Given the description of an element on the screen output the (x, y) to click on. 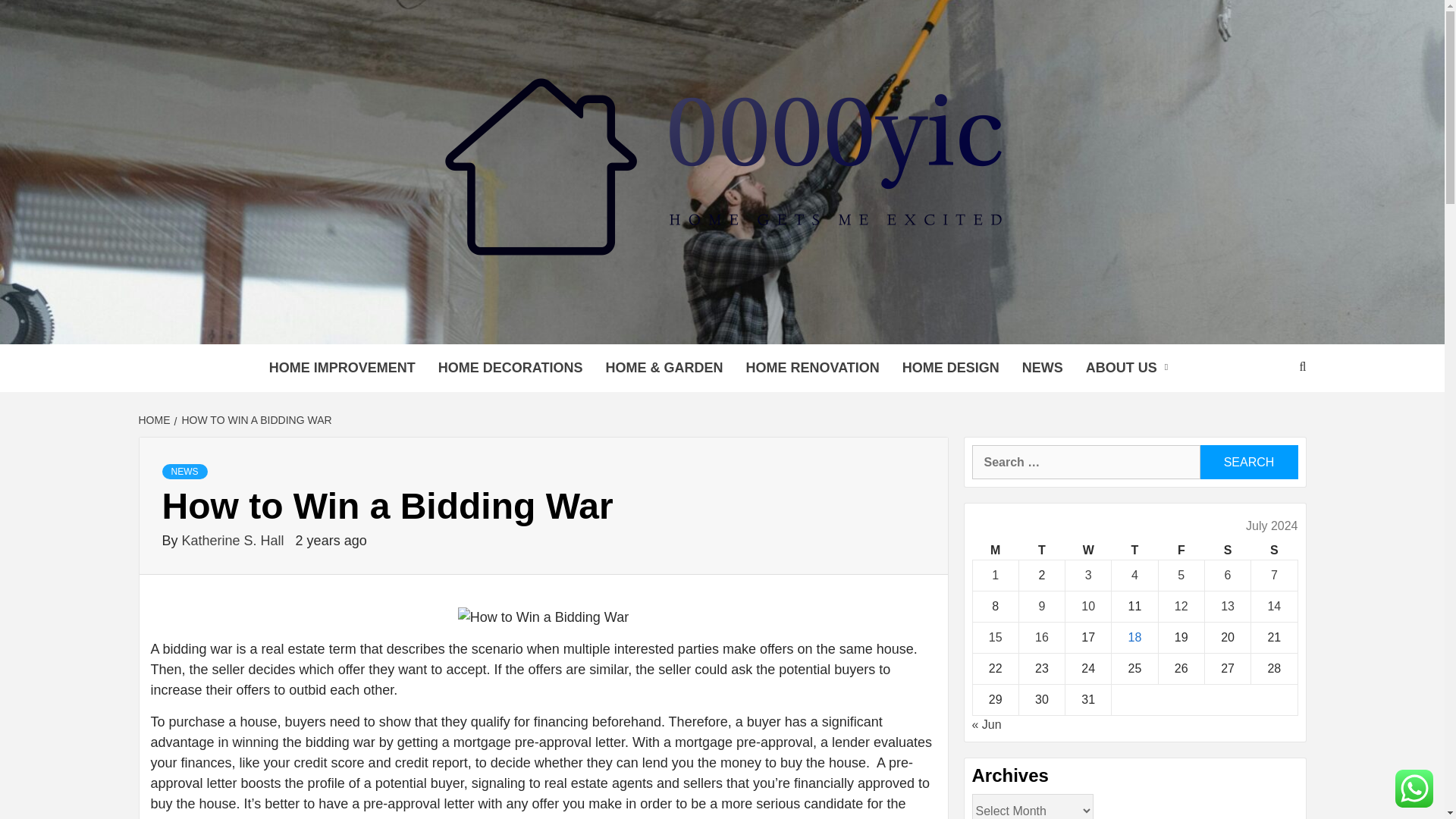
HOME DECORATIONS (510, 367)
Friday (1180, 550)
Katherine S. Hall (235, 540)
15 (995, 636)
4 (1134, 574)
Wednesday (1088, 550)
Search (1248, 462)
How to Win a Bidding War (543, 617)
16 (1041, 636)
HOME (155, 419)
5 (1181, 574)
Tuesday (1040, 550)
1 (994, 574)
10 (1087, 605)
6 (1227, 574)
